Given the description of an element on the screen output the (x, y) to click on. 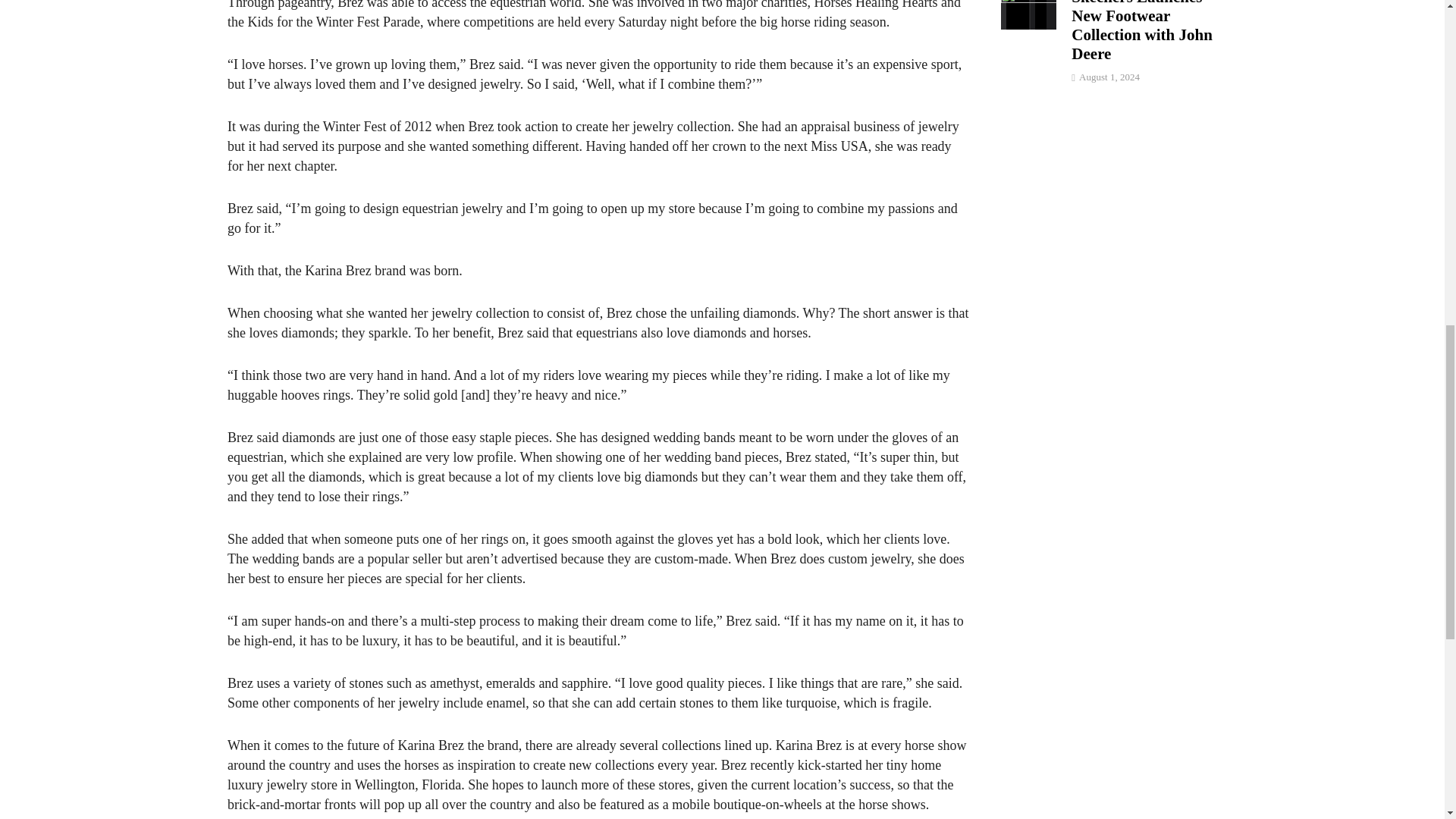
Skechers Launches New Footwear Collection with John Deere (1029, 7)
